Given the description of an element on the screen output the (x, y) to click on. 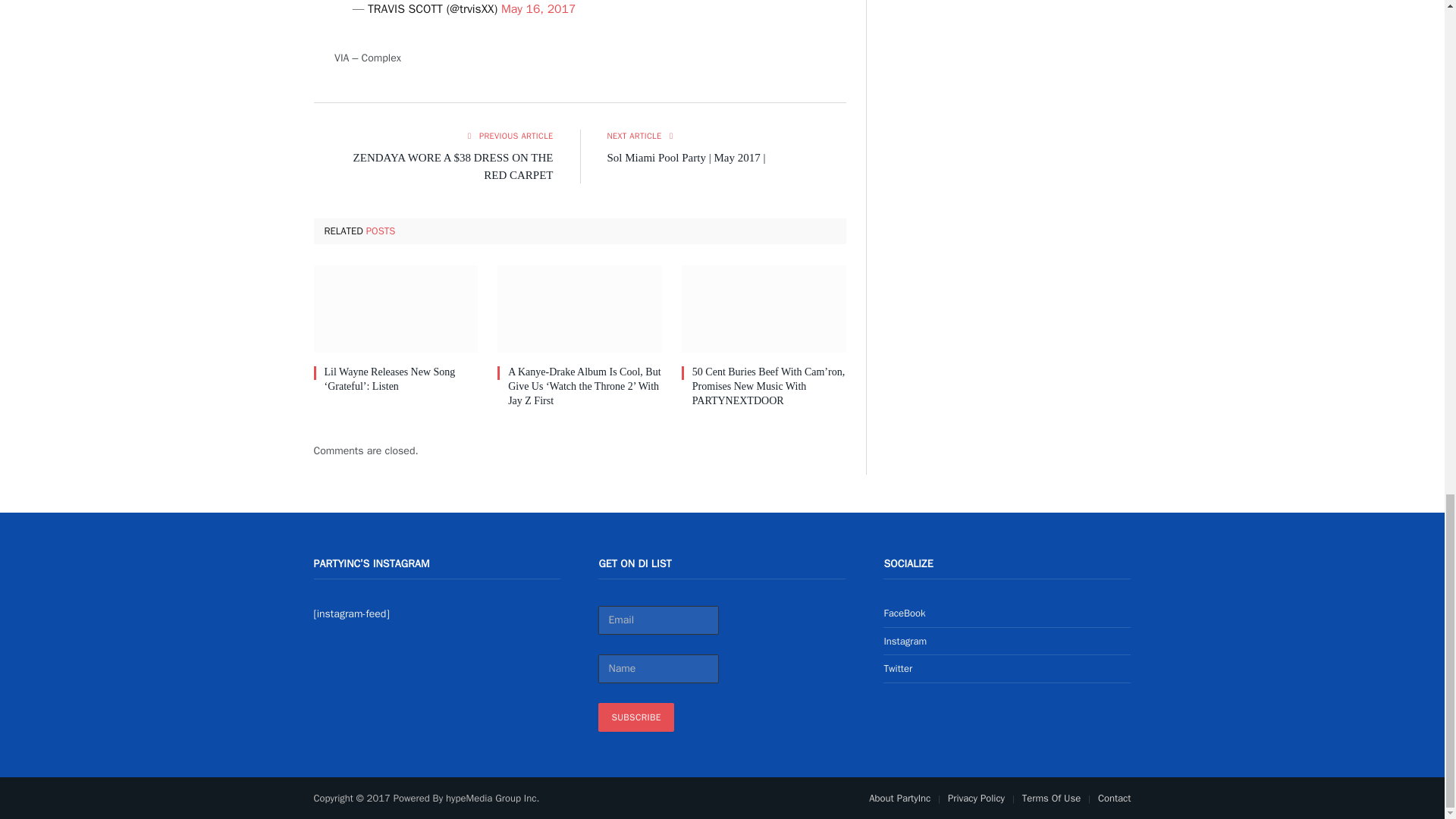
Subscribe (635, 717)
Subscribe (635, 717)
Terms Of Use (1051, 797)
Instagram (904, 640)
Privacy Policy (975, 797)
May 16, 2017 (537, 8)
Email (658, 620)
Twitter (897, 667)
Name (658, 668)
About PartyInc (899, 797)
FaceBook (903, 612)
